Given the description of an element on the screen output the (x, y) to click on. 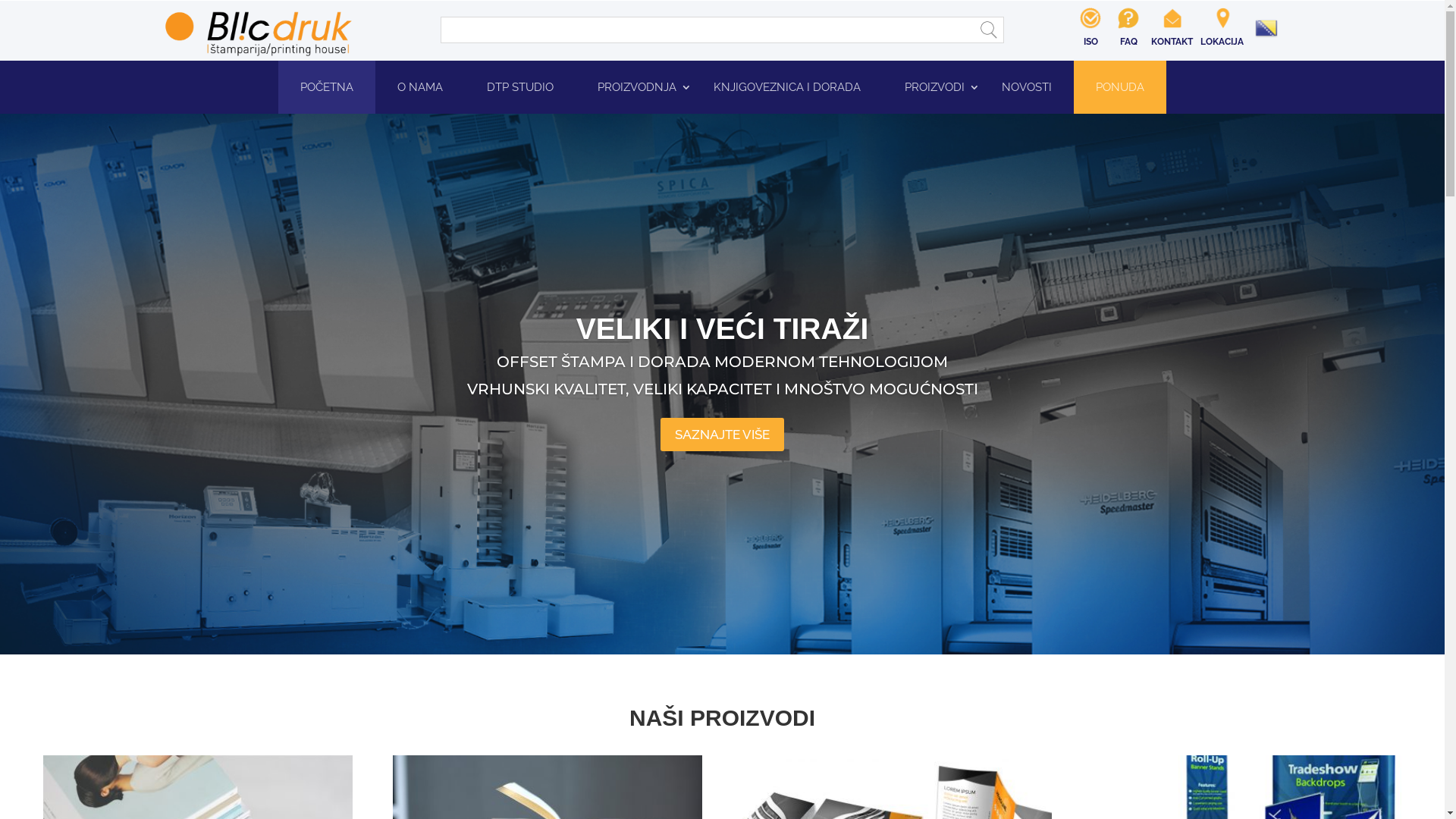
NOVOSTI Element type: text (1026, 86)
PONUDA Element type: text (1119, 86)
PROIZVODNJA Element type: text (633, 86)
PROIZVODI Element type: text (930, 86)
KONTAKT Element type: text (1171, 34)
O NAMA Element type: text (419, 86)
LOKACIJA Element type: text (1221, 34)
ISO Element type: text (1090, 34)
DTP STUDIO Element type: text (519, 86)
KNJIGOVEZNICA I DORADA Element type: text (786, 86)
FAQ Element type: text (1128, 34)
